Given the description of an element on the screen output the (x, y) to click on. 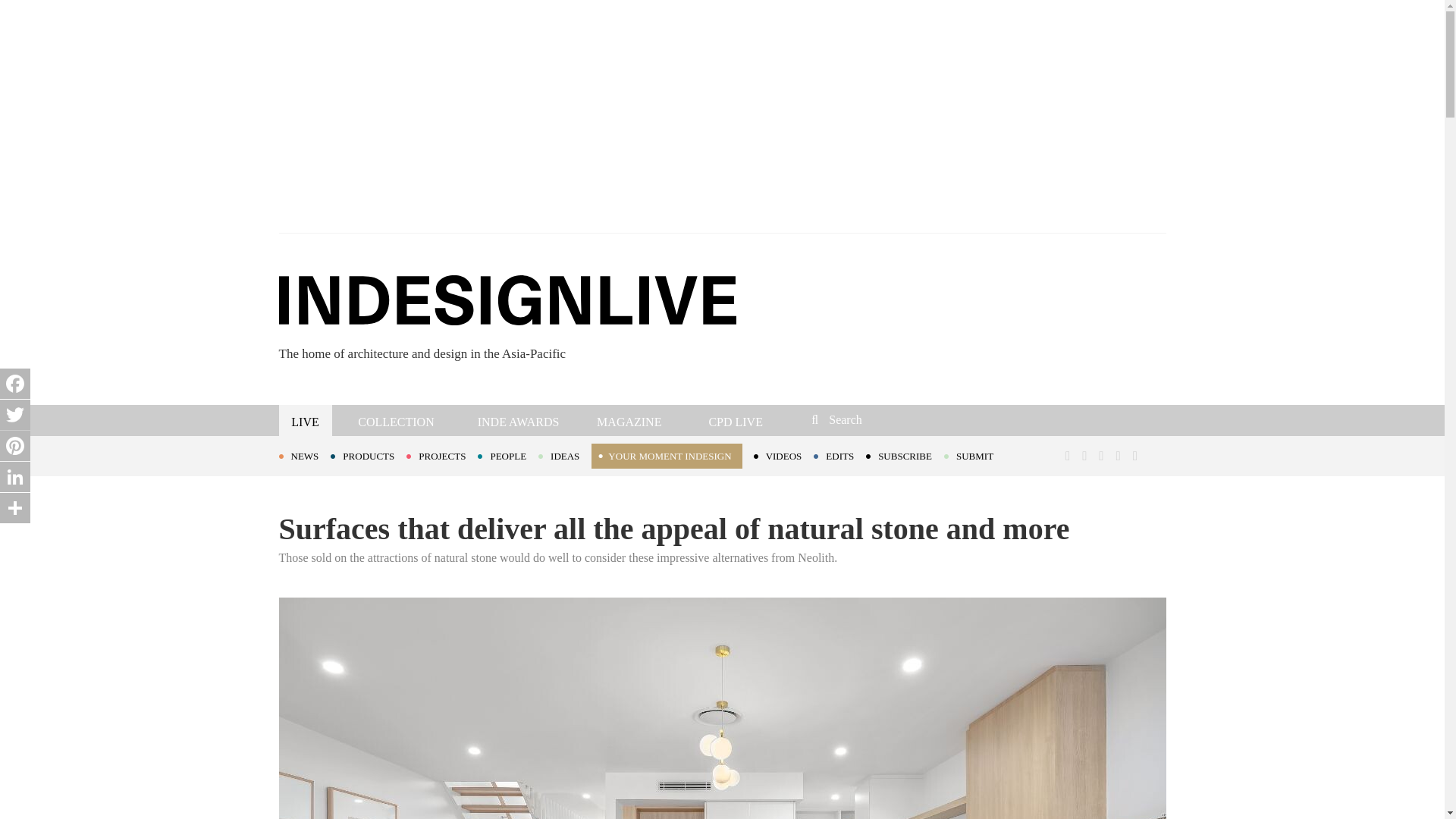
PEOPLE (507, 455)
PROJECTS (441, 455)
VIDEOS (783, 455)
EDITS (839, 455)
YOUR MOMENT INDESIGN (666, 455)
PRODUCTS (368, 455)
SUBMIT (974, 455)
IDEAS (564, 455)
SUBSCRIBE (904, 455)
NEWS (305, 455)
